Given the description of an element on the screen output the (x, y) to click on. 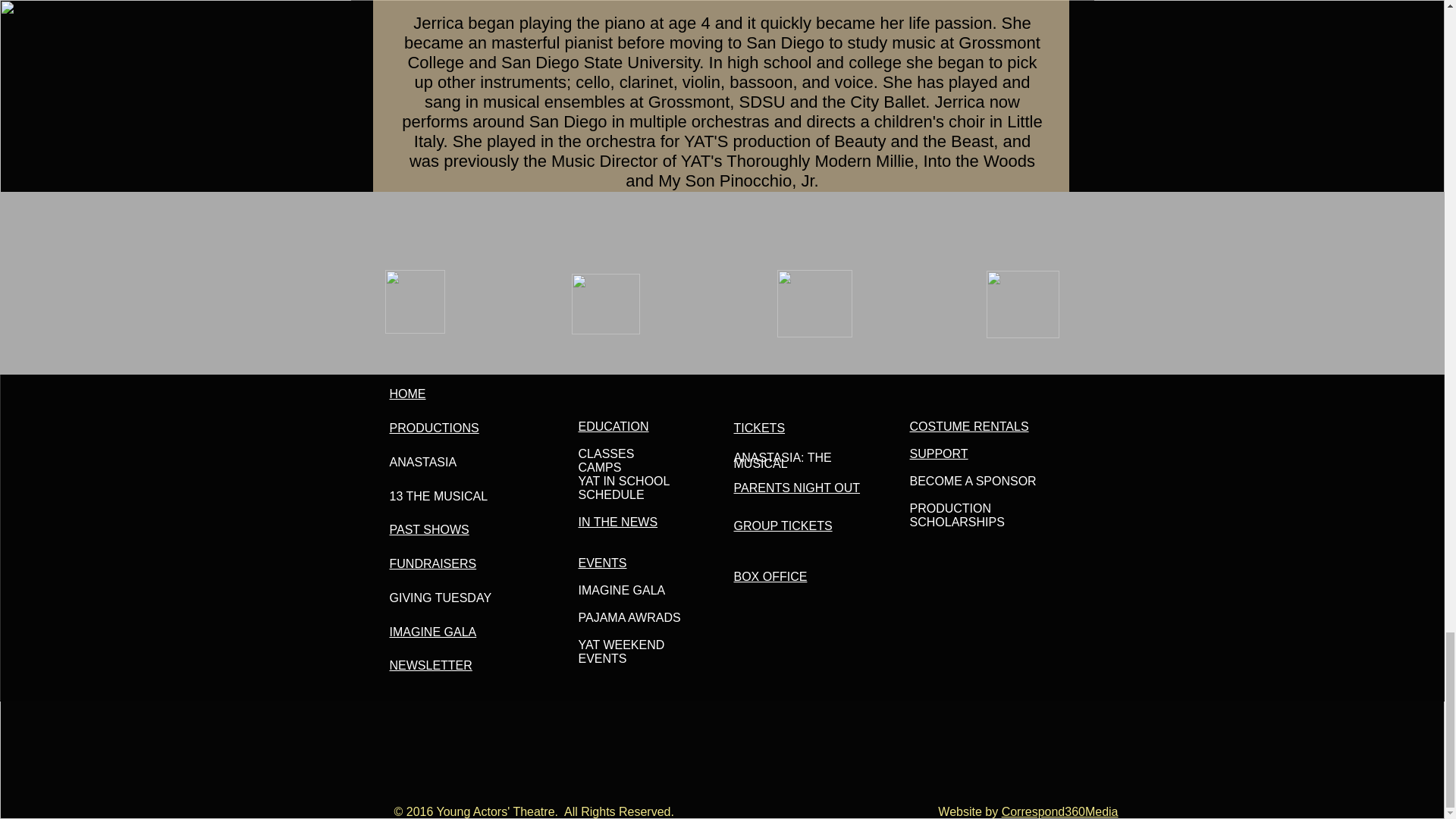
IMAGINE GALA (433, 631)
ANASTASIA: THE MUSICAL (782, 460)
TICKETS (759, 427)
FUNDRAISERS (433, 563)
GIVING TUESDA (436, 597)
13 THE MUSICAL (438, 495)
CAMPS (599, 467)
EVENTS (602, 562)
ANASTASIA (423, 461)
NEWSLETTER (430, 665)
PRODUCTIONS (434, 427)
CLASSES (605, 453)
EDUCATION (612, 426)
HOME (408, 393)
PAST SHOWS (429, 529)
